Given the description of an element on the screen output the (x, y) to click on. 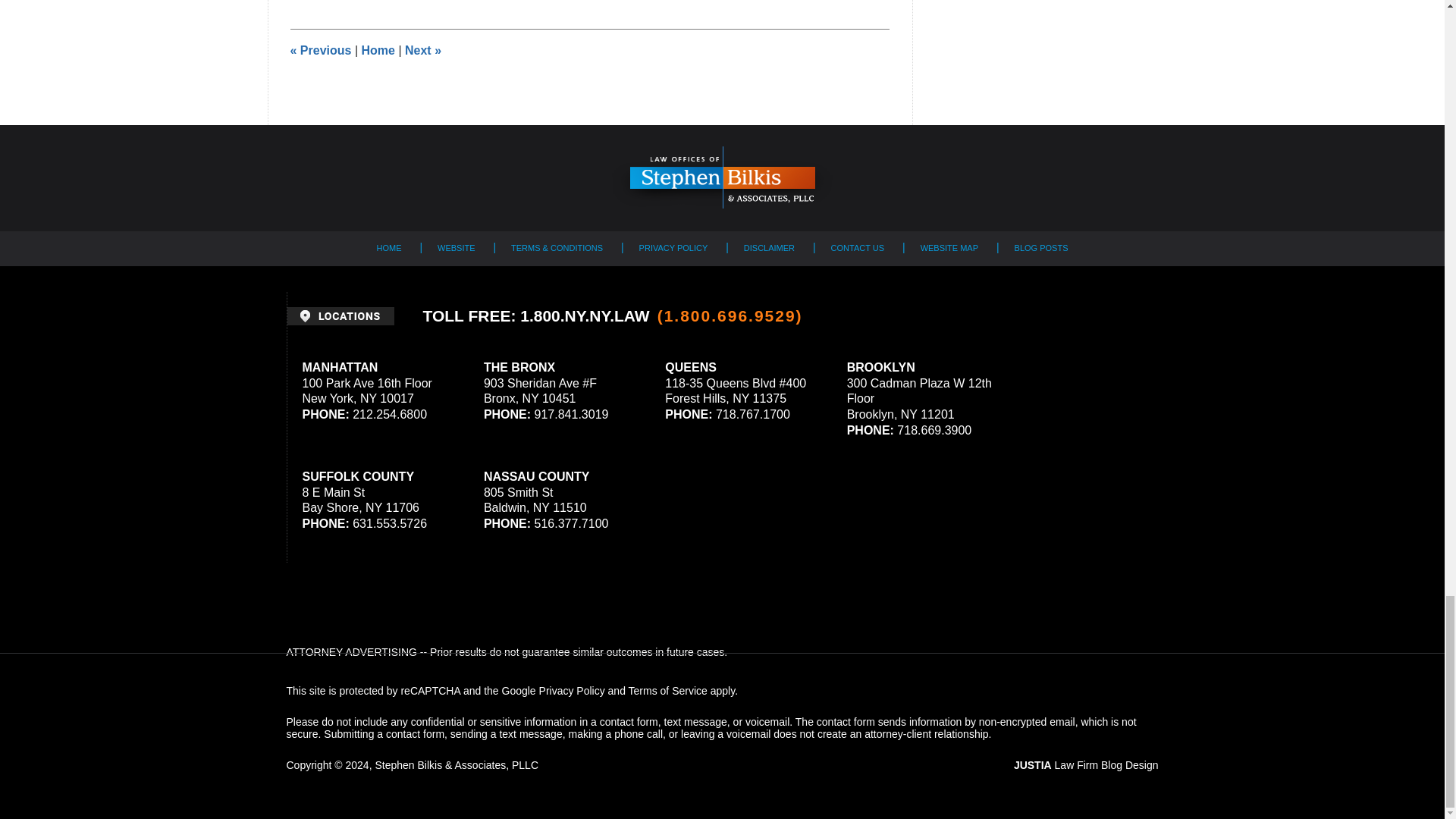
Court Decides Wire Fraud Matter (319, 50)
Home (377, 50)
